Given the description of an element on the screen output the (x, y) to click on. 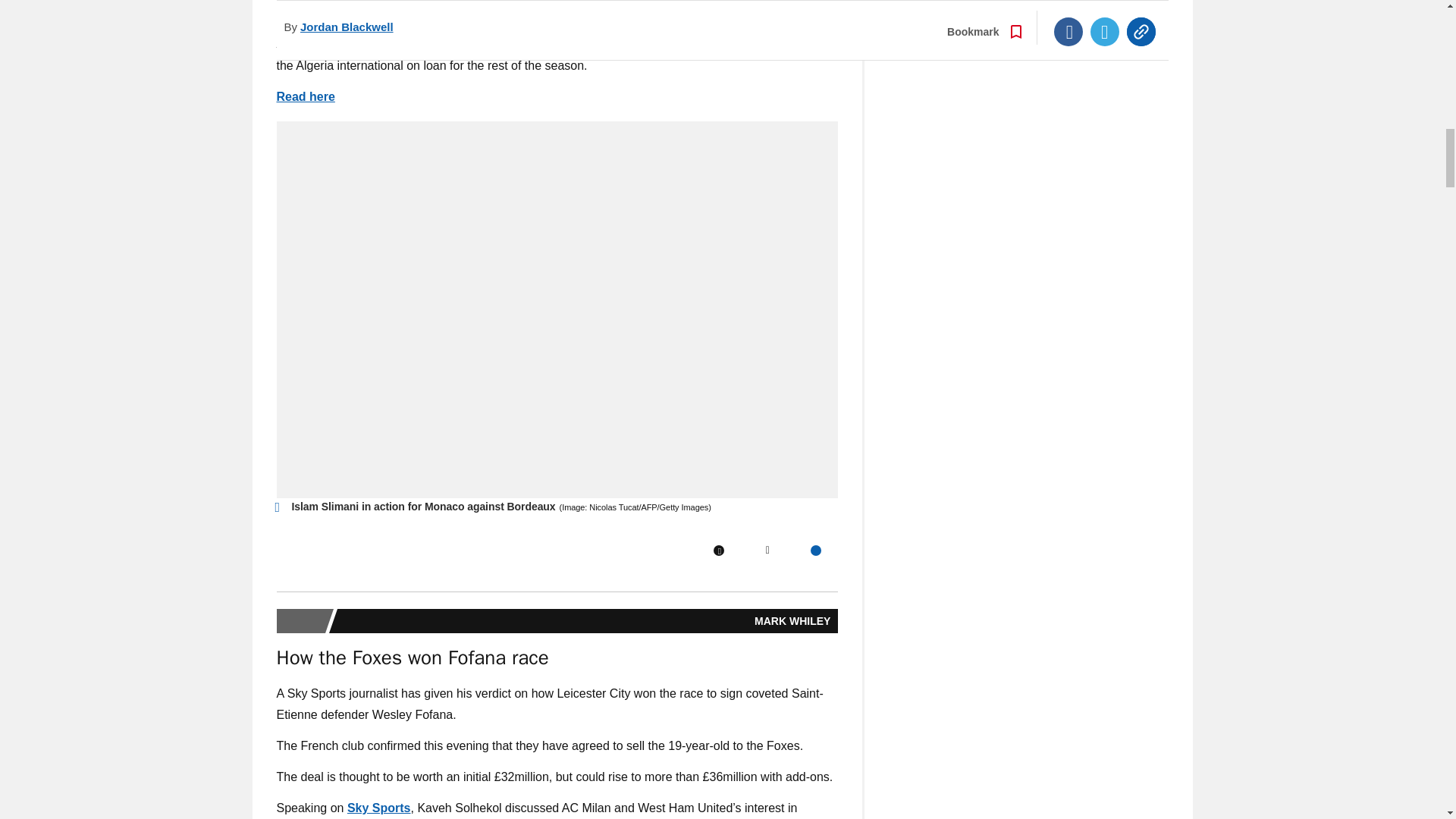
Twitter (767, 550)
Facebook (718, 550)
